Given the description of an element on the screen output the (x, y) to click on. 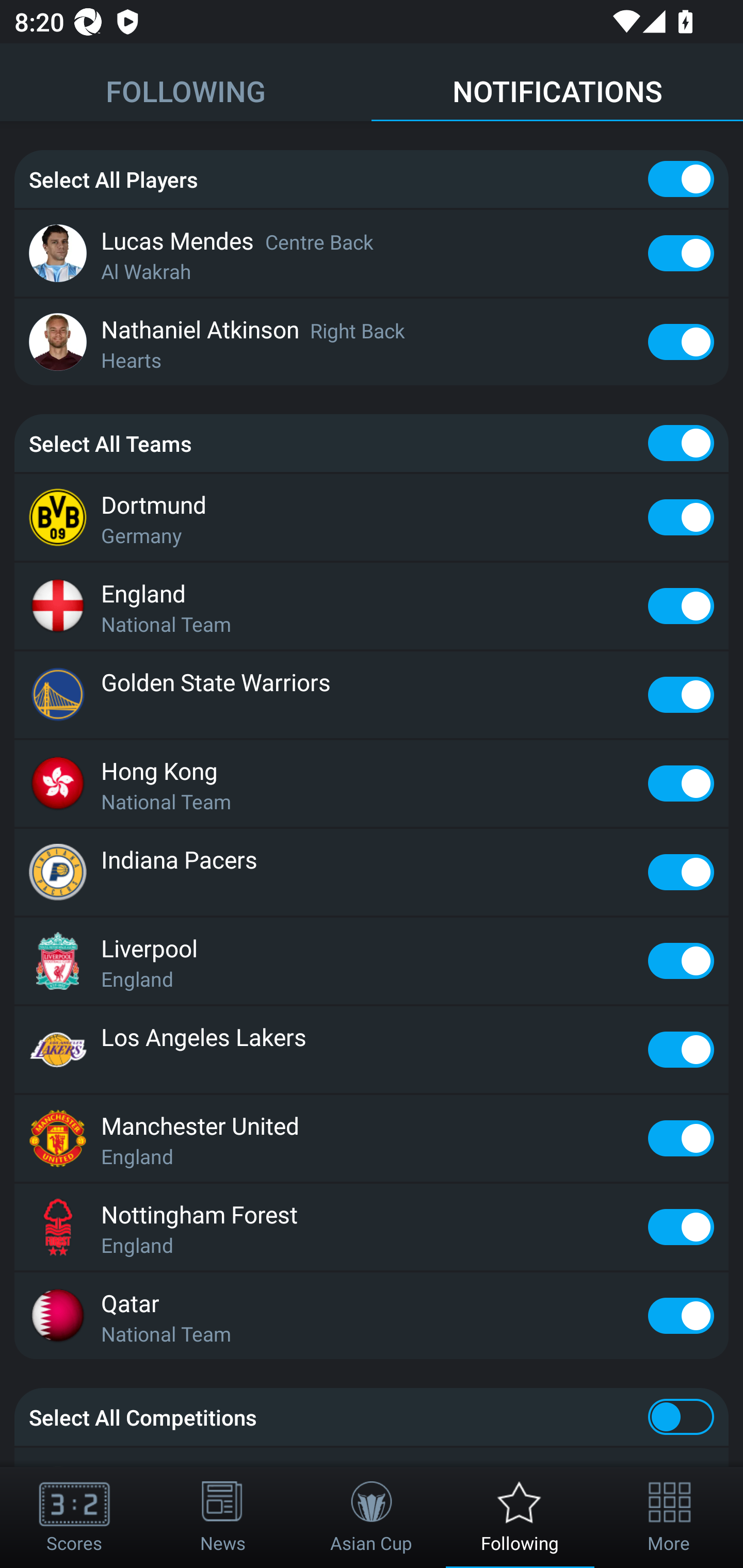
FOLLOWING (185, 81)
NOTIFICATIONS (557, 81)
Select All Players (371, 179)
Lucas Mendes Centre Back Al Wakrah (371, 253)
Nathaniel Atkinson Right Back Hearts (371, 341)
Select All Teams (371, 442)
Dortmund Germany (371, 517)
England National Team (371, 605)
Golden State Warriors (371, 694)
Hong Kong National Team (371, 783)
Indiana Pacers (371, 872)
Liverpool England (371, 960)
Los Angeles Lakers (371, 1049)
Manchester United England (371, 1138)
Nottingham Forest England (371, 1226)
Qatar National Team (371, 1316)
Select All Competitions (371, 1416)
Scores (74, 1517)
News (222, 1517)
Asian Cup (371, 1517)
More (668, 1517)
